Given the description of an element on the screen output the (x, y) to click on. 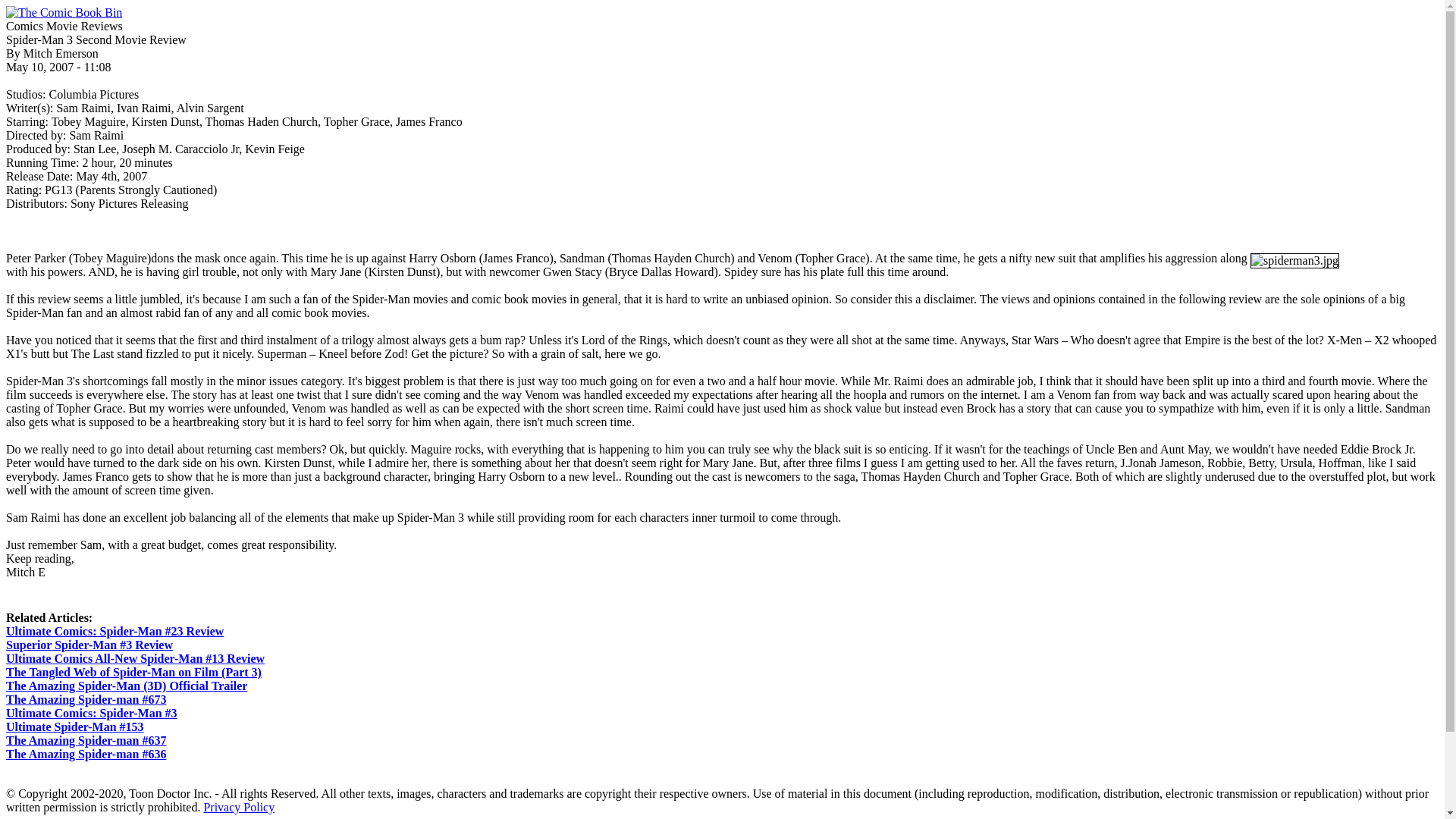
Privacy Policy (239, 807)
